Given the description of an element on the screen output the (x, y) to click on. 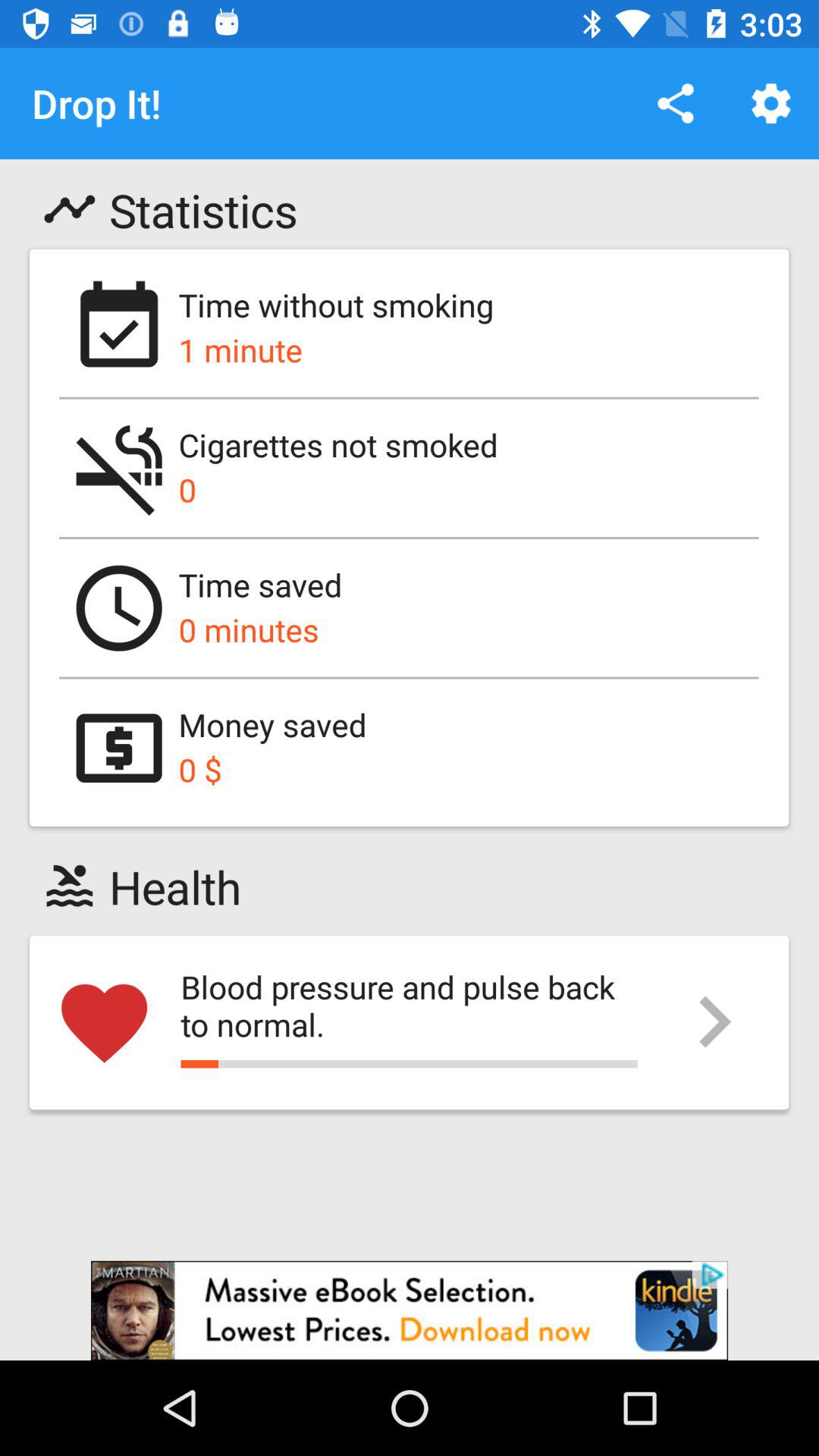
click for advertisement (409, 1310)
